Given the description of an element on the screen output the (x, y) to click on. 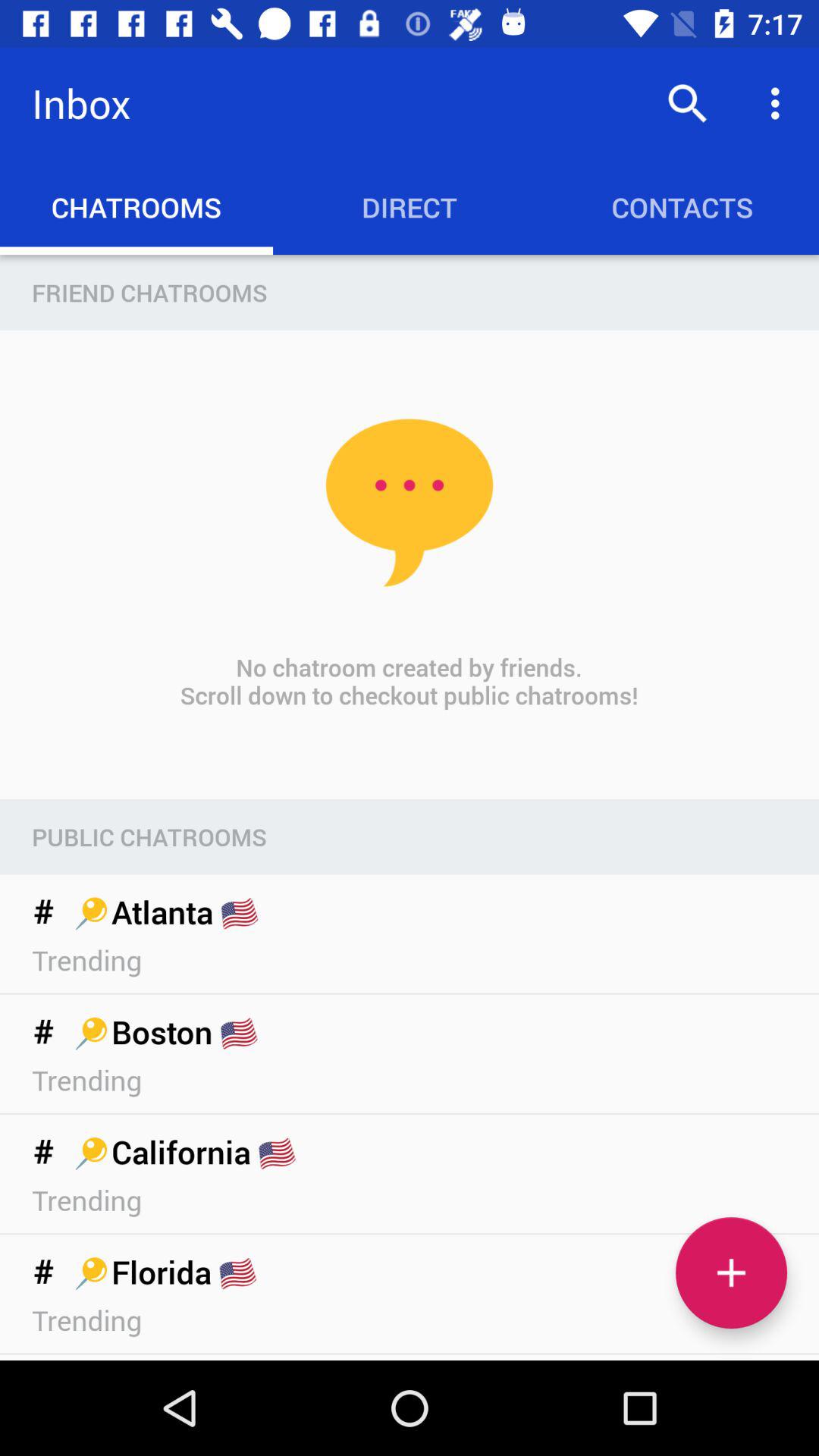
tap the item above contacts icon (779, 103)
